Given the description of an element on the screen output the (x, y) to click on. 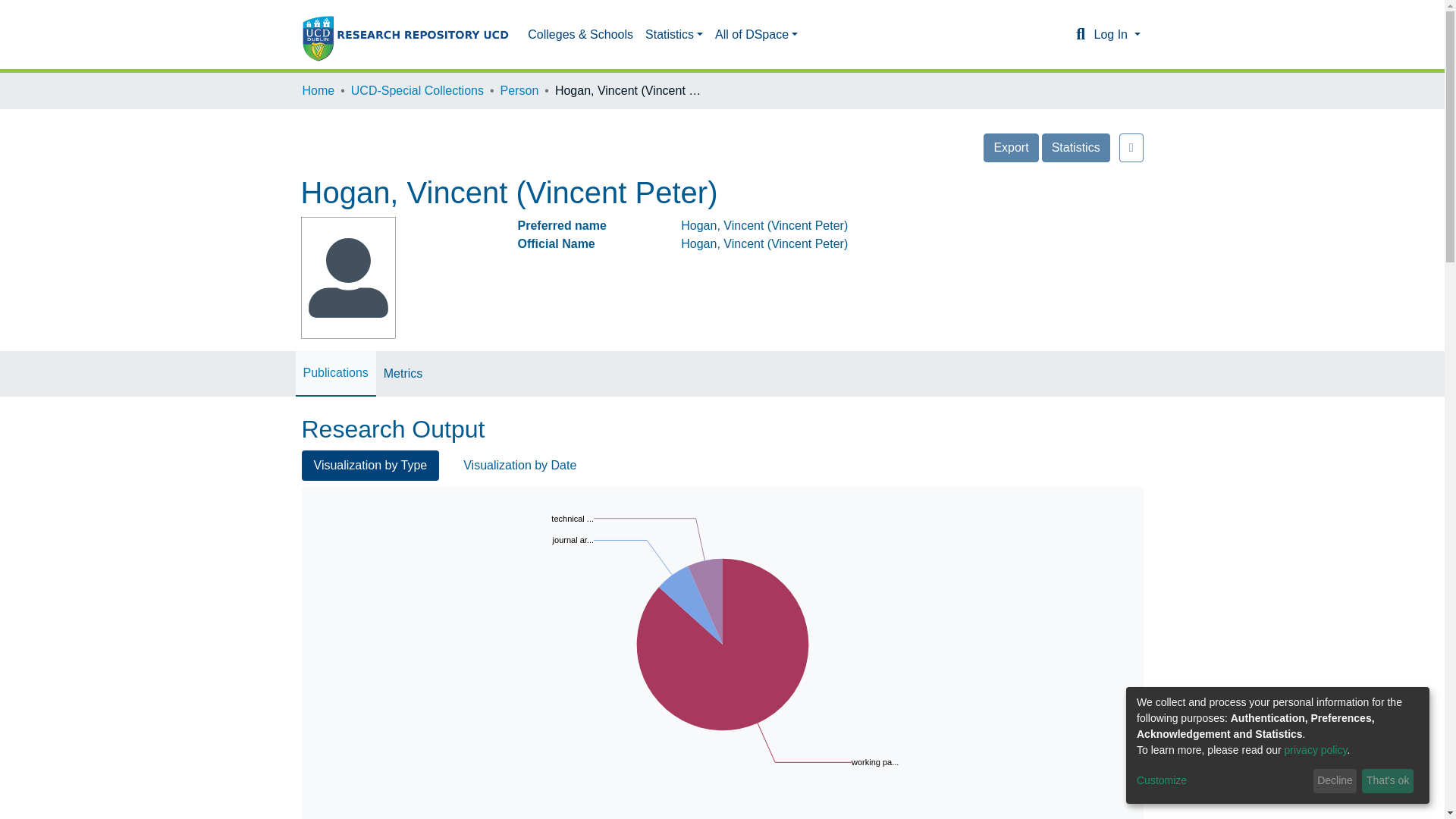
Metrics (402, 373)
Home (317, 90)
Statistics (1075, 147)
Person (519, 90)
Metrics (402, 373)
Visualization by Type (370, 465)
Publications (335, 372)
Search (1080, 34)
Visualization by Date (519, 465)
